Given the description of an element on the screen output the (x, y) to click on. 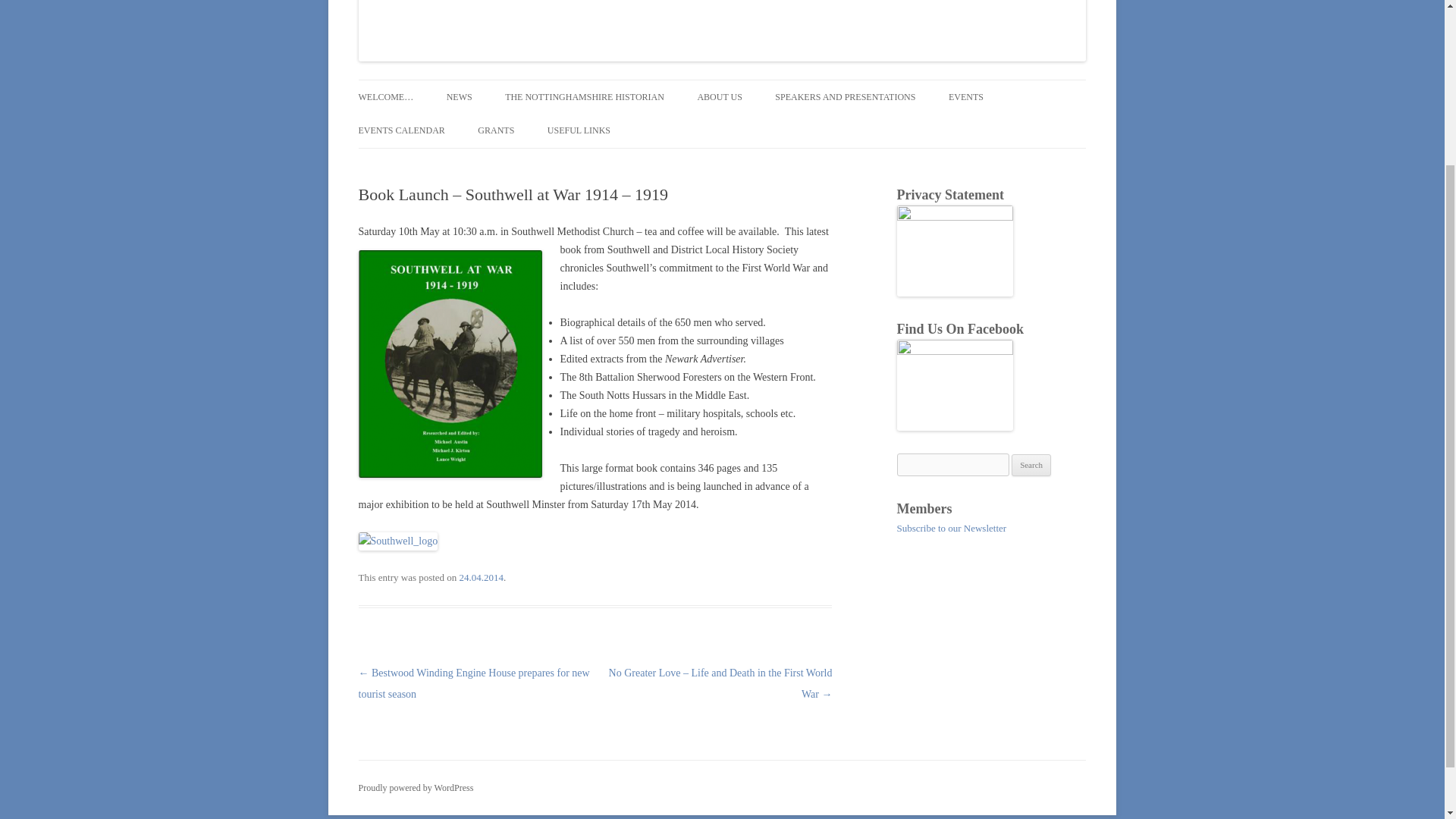
USEFUL LINKS (578, 130)
Subscribe to our Newsletter (951, 527)
NLHA DAY-SCHOOLS (1024, 128)
ABOUT US (719, 96)
GRANTS (495, 130)
NEWSLETTER (522, 128)
6:54 pm (481, 577)
THE NOTTINGHAMSHIRE HISTORIAN (584, 96)
